Given the description of an element on the screen output the (x, y) to click on. 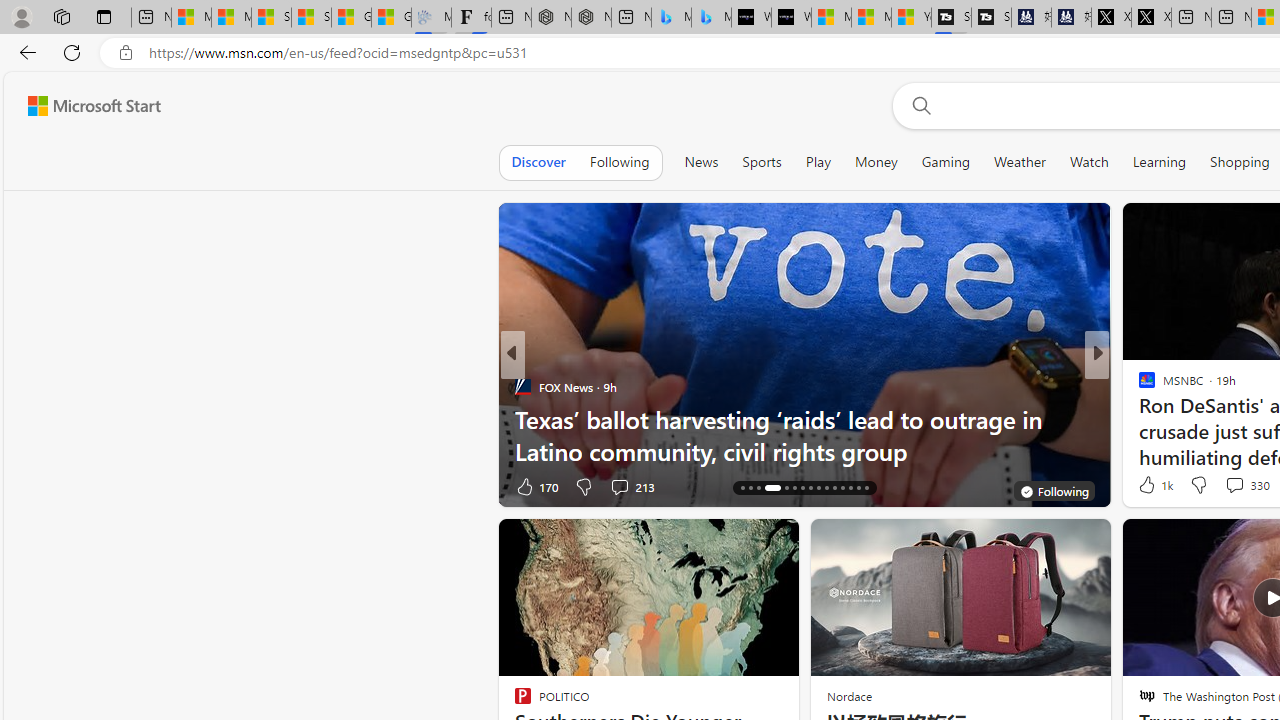
148 Like (1151, 486)
Learning (1159, 161)
View comments 353 Comment (1234, 485)
Newsweek (1138, 386)
8 Like (1145, 486)
Gilma and Hector both pose tropical trouble for Hawaii (391, 17)
View comments 33 Comment (1229, 485)
AutomationID: tab-29 (857, 487)
AutomationID: tab-26 (833, 487)
